Given the description of an element on the screen output the (x, y) to click on. 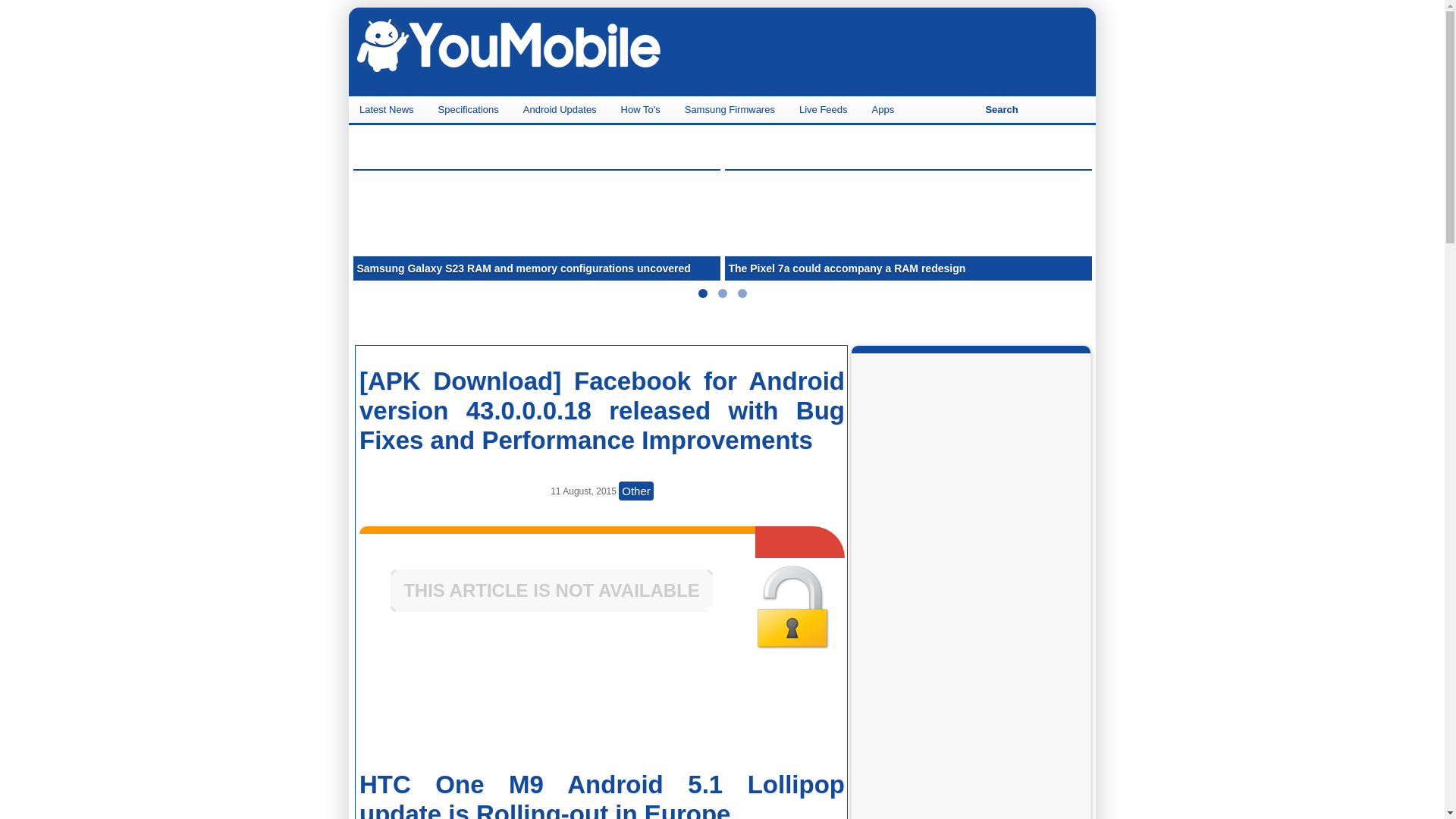
Share This Article on Twitter (760, 708)
Search (1001, 109)
Samsung Firmwares (731, 109)
Latest News (388, 109)
Android Updates (561, 109)
How To's (642, 109)
Apps (884, 109)
Live Feeds (825, 109)
Specifications (470, 109)
Share This Article on Facebook (440, 708)
